Given the description of an element on the screen output the (x, y) to click on. 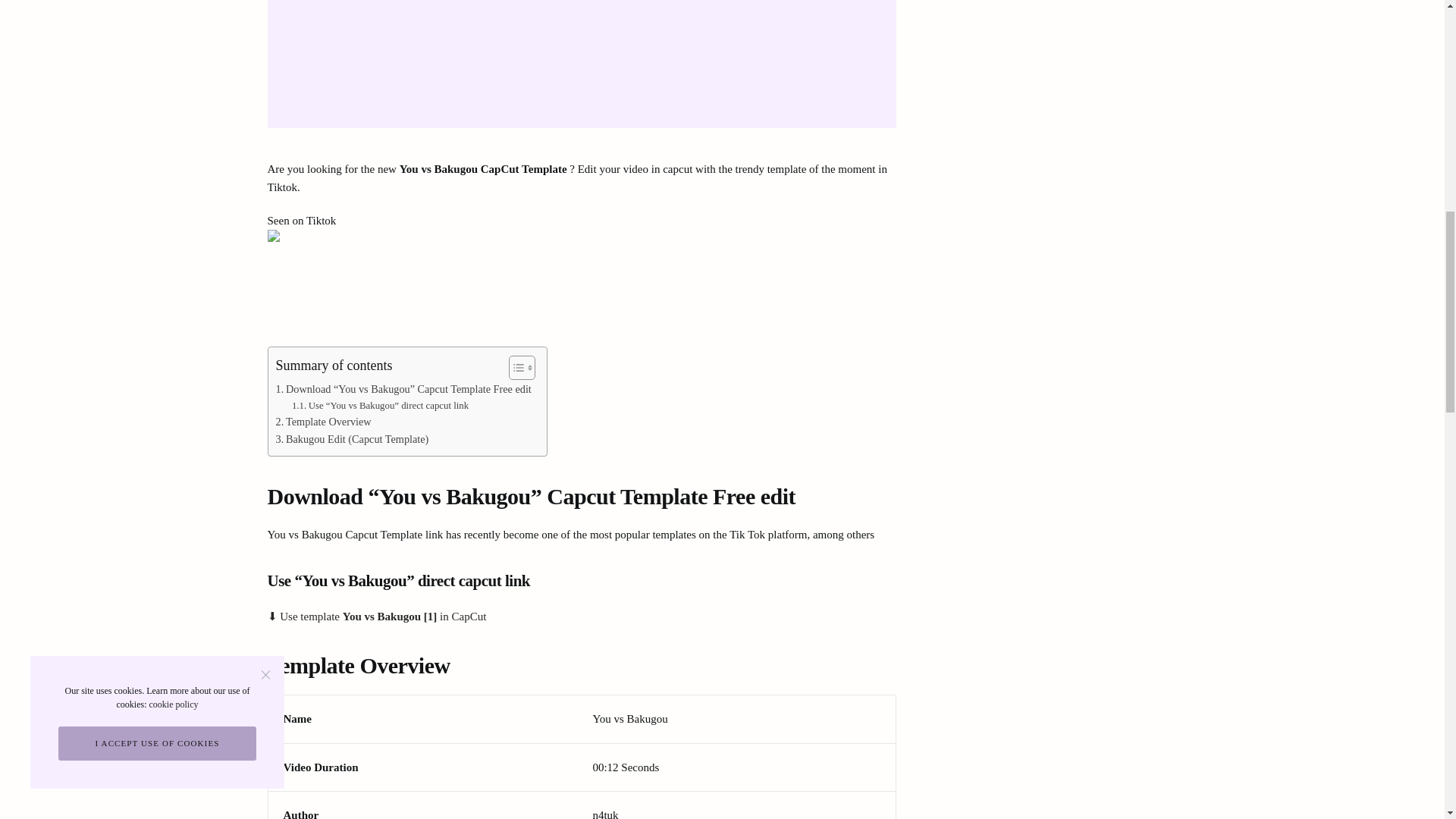
Template Overview (323, 421)
